Given the description of an element on the screen output the (x, y) to click on. 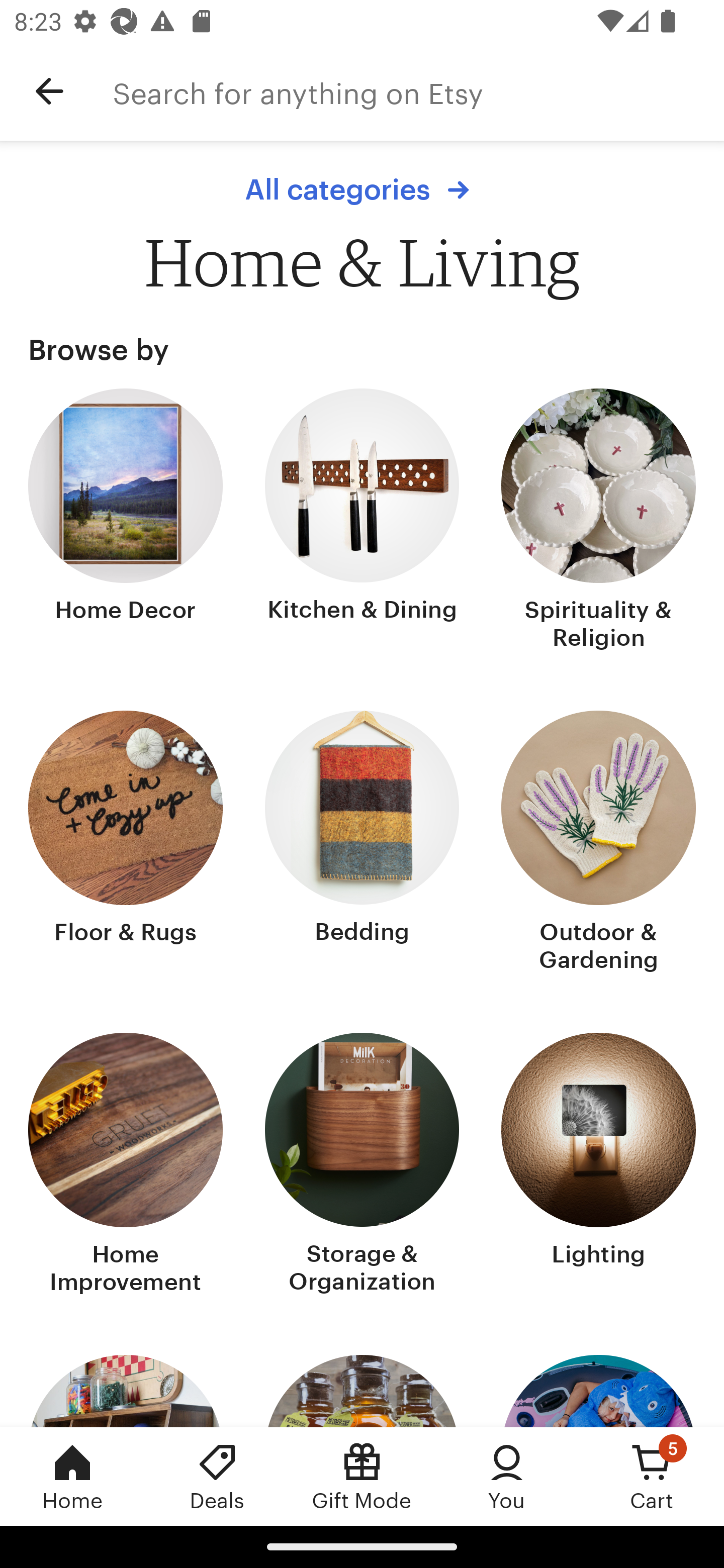
Navigate up (49, 91)
Search for anything on Etsy (418, 91)
All categories (361, 189)
Home Decor (125, 520)
Kitchen & Dining (361, 520)
Spirituality & Religion (598, 520)
Floor & Rugs (125, 843)
Bedding (361, 843)
Outdoor & Gardening (598, 843)
Home Improvement (125, 1165)
Storage & Organization (361, 1165)
Lighting (598, 1165)
Deals (216, 1475)
Gift Mode (361, 1475)
You (506, 1475)
Cart, 5 new notifications Cart (651, 1475)
